Given the description of an element on the screen output the (x, y) to click on. 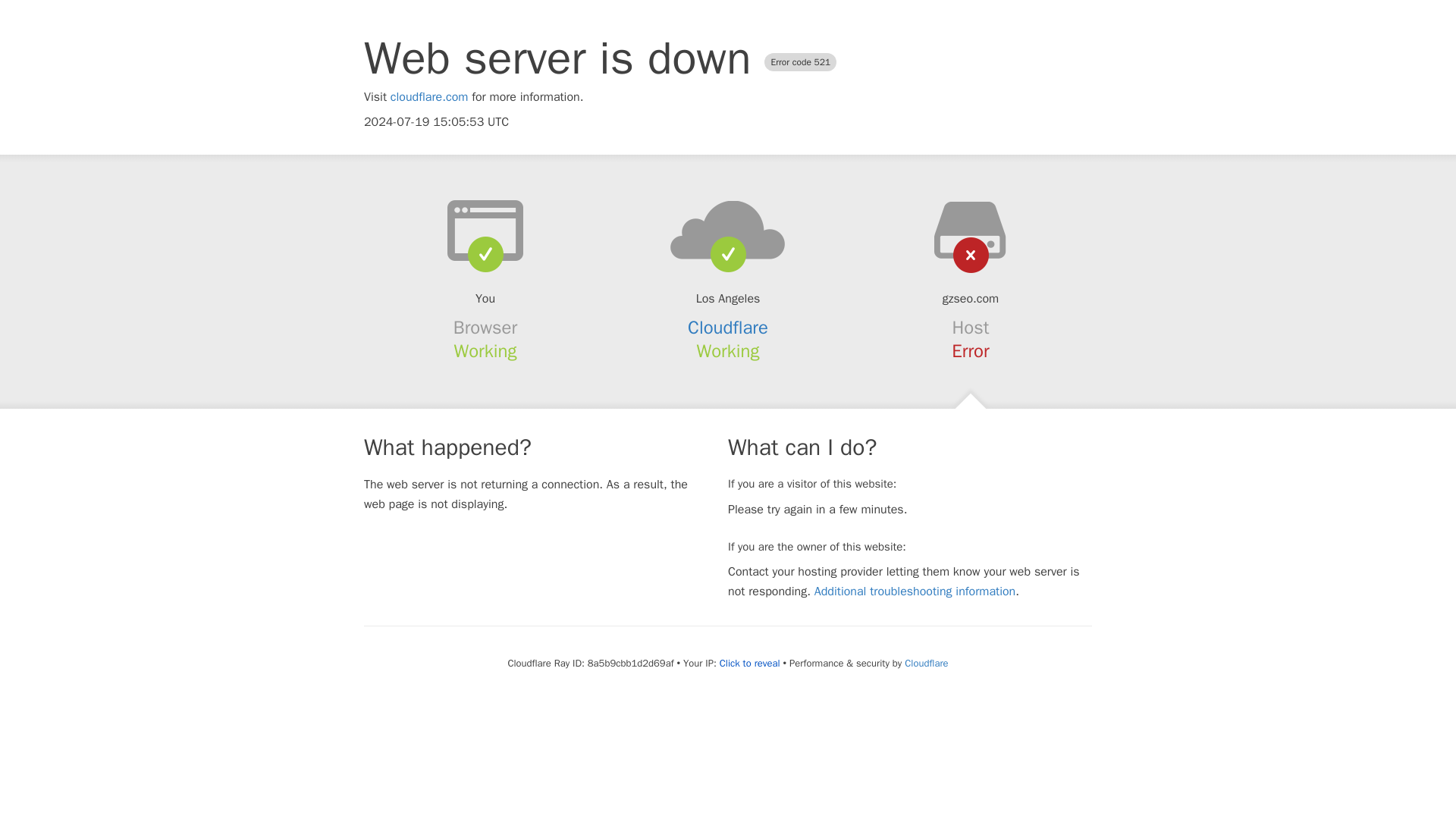
Cloudflare (727, 327)
Click to reveal (749, 663)
Cloudflare (925, 662)
Additional troubleshooting information (913, 590)
cloudflare.com (429, 96)
